Given the description of an element on the screen output the (x, y) to click on. 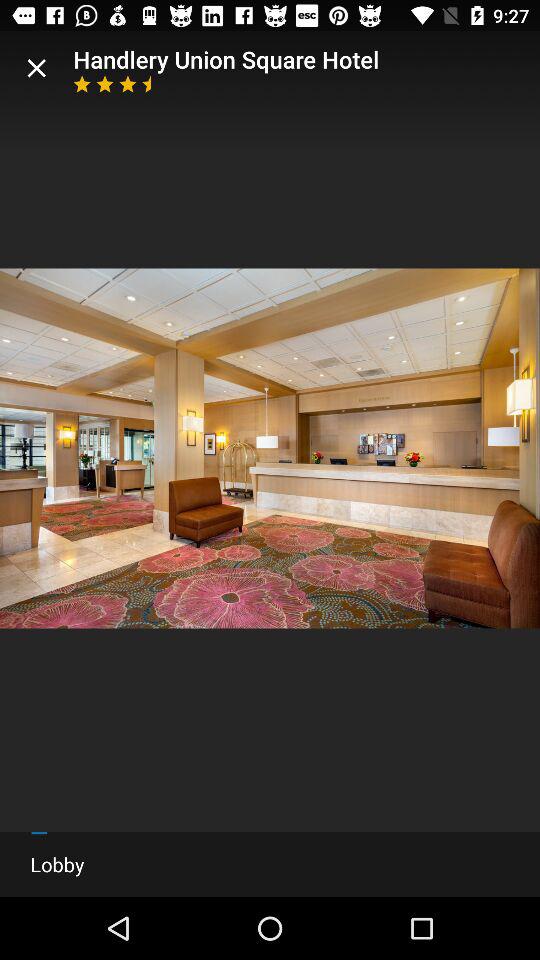
launch icon to the left of handlery union square item (36, 68)
